Given the description of an element on the screen output the (x, y) to click on. 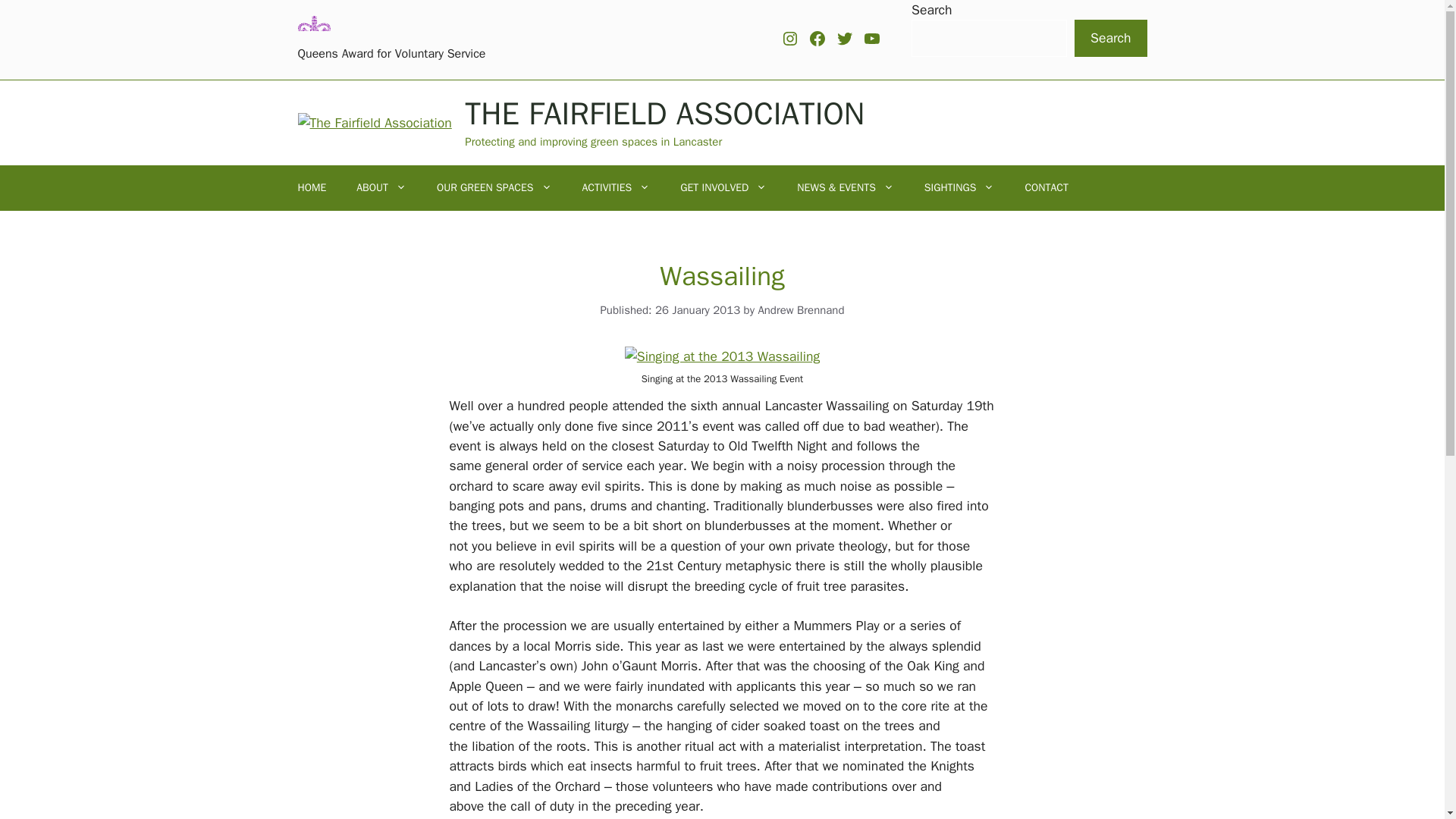
GET INVOLVED (723, 187)
Twitter (844, 38)
THE FAIRFIELD ASSOCIATION (664, 113)
ABOUT (381, 187)
ACTIVITIES (616, 187)
Facebook (817, 38)
Instagram (789, 38)
Youtube (871, 38)
OUR GREEN SPACES (494, 187)
HOME (311, 187)
